Given the description of an element on the screen output the (x, y) to click on. 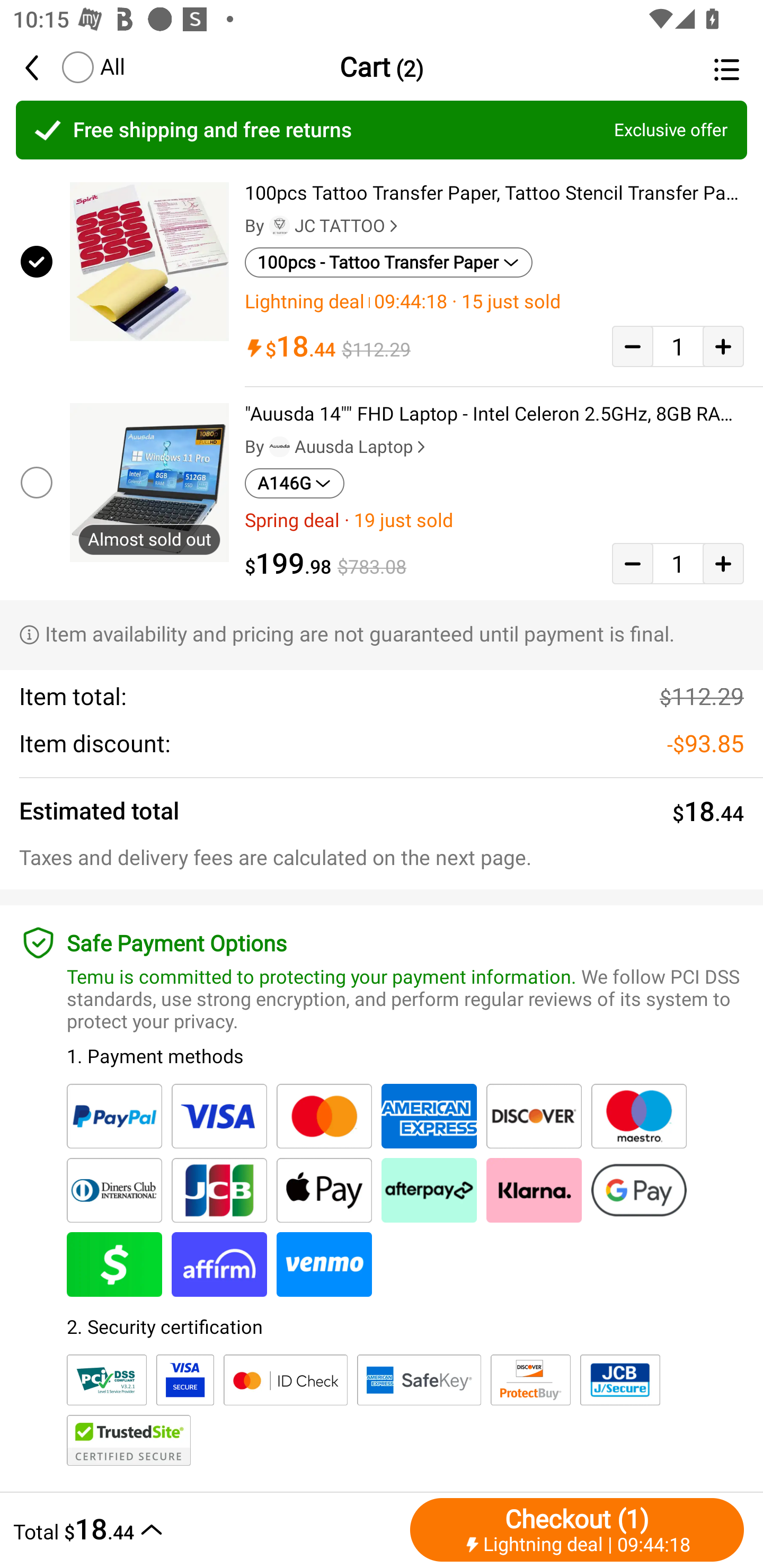
back (41, 67)
Select all tick button All (92, 67)
Free shipping and free returns Exclusive offer (381, 129)
Product checkbox checked (35, 260)
By JC TATTOO (322, 226)
100pcs - Tattoo Transfer Paper (388, 262)
Lightning deal | ￼ · 15 just sold (493, 301)
Decrease quantity button (632, 346)
1 (677, 346)
Add quantity button (722, 346)
Product checkbox uncheck (35, 481)
By Auusda Laptop (336, 446)
A146G (294, 483)
Decrease quantity button (632, 563)
1 (677, 563)
Add quantity button (722, 563)
Total $18.44 (206, 1529)
Checkout Checkout (1) ￼Lightning deal | ￼ (576, 1529)
